Given the description of an element on the screen output the (x, y) to click on. 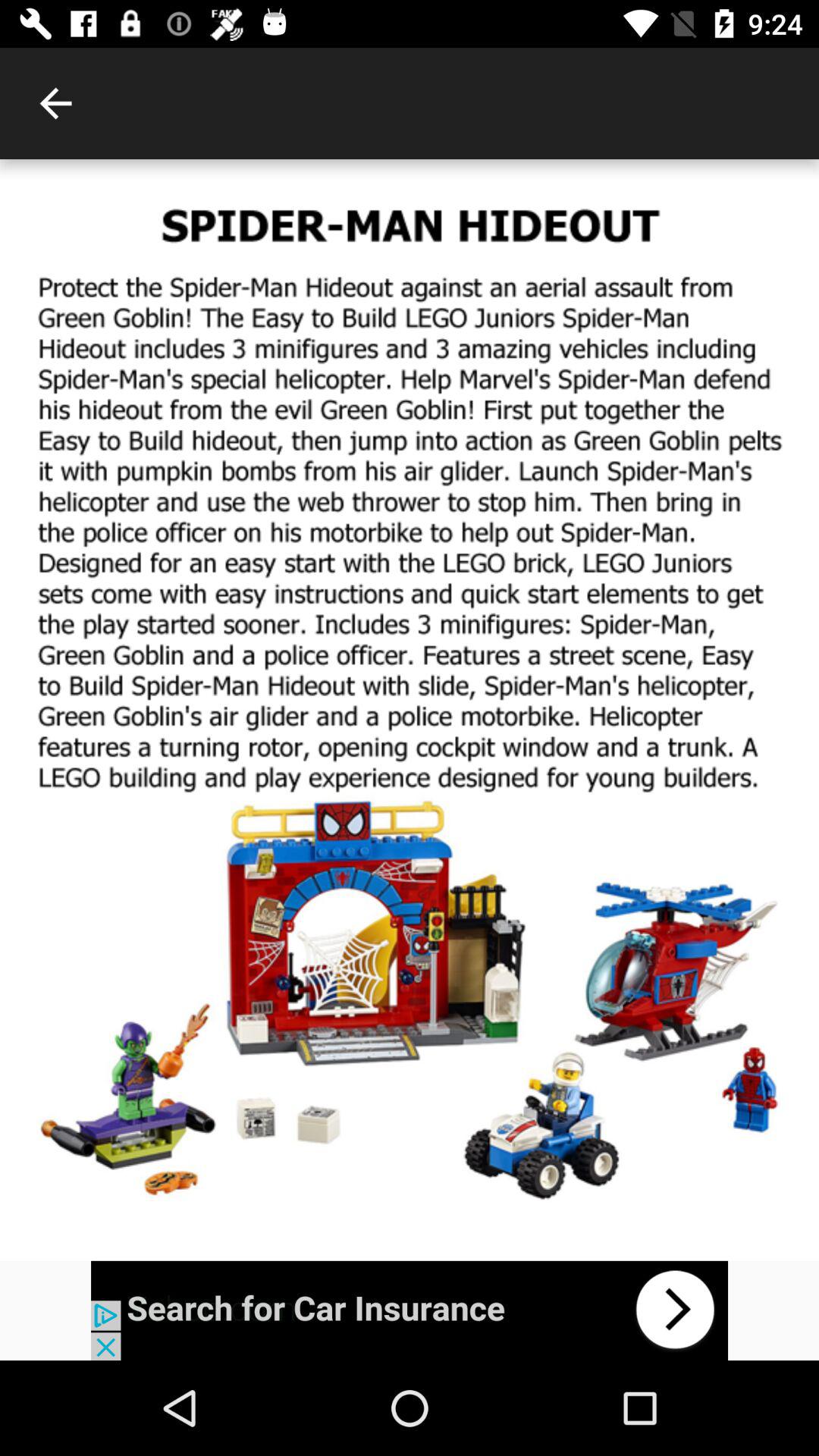
search window (409, 1310)
